Given the description of an element on the screen output the (x, y) to click on. 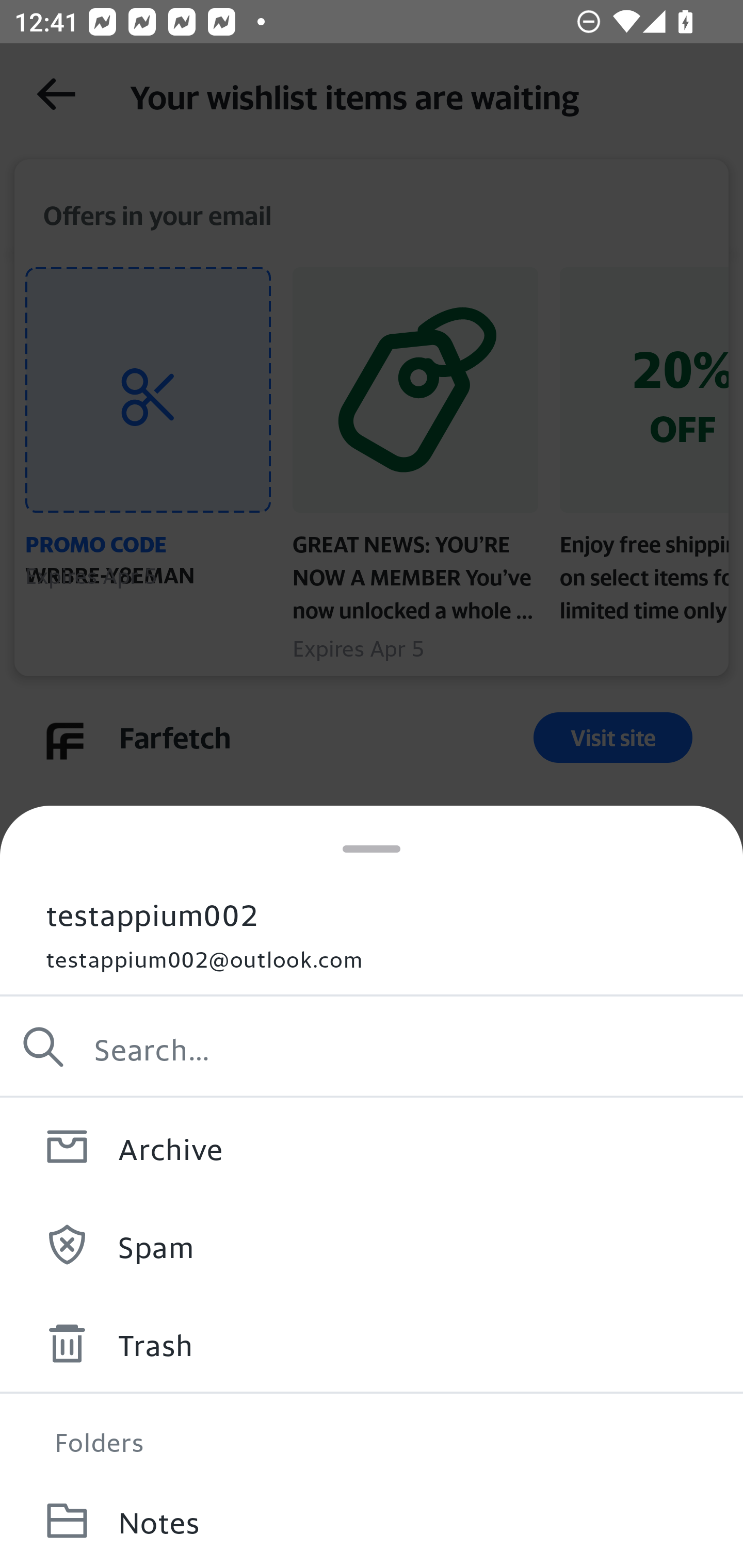
Search… (371, 1047)
Archive (371, 1145)
Spam (371, 1243)
Trash (371, 1342)
Notes (371, 1520)
